Given the description of an element on the screen output the (x, y) to click on. 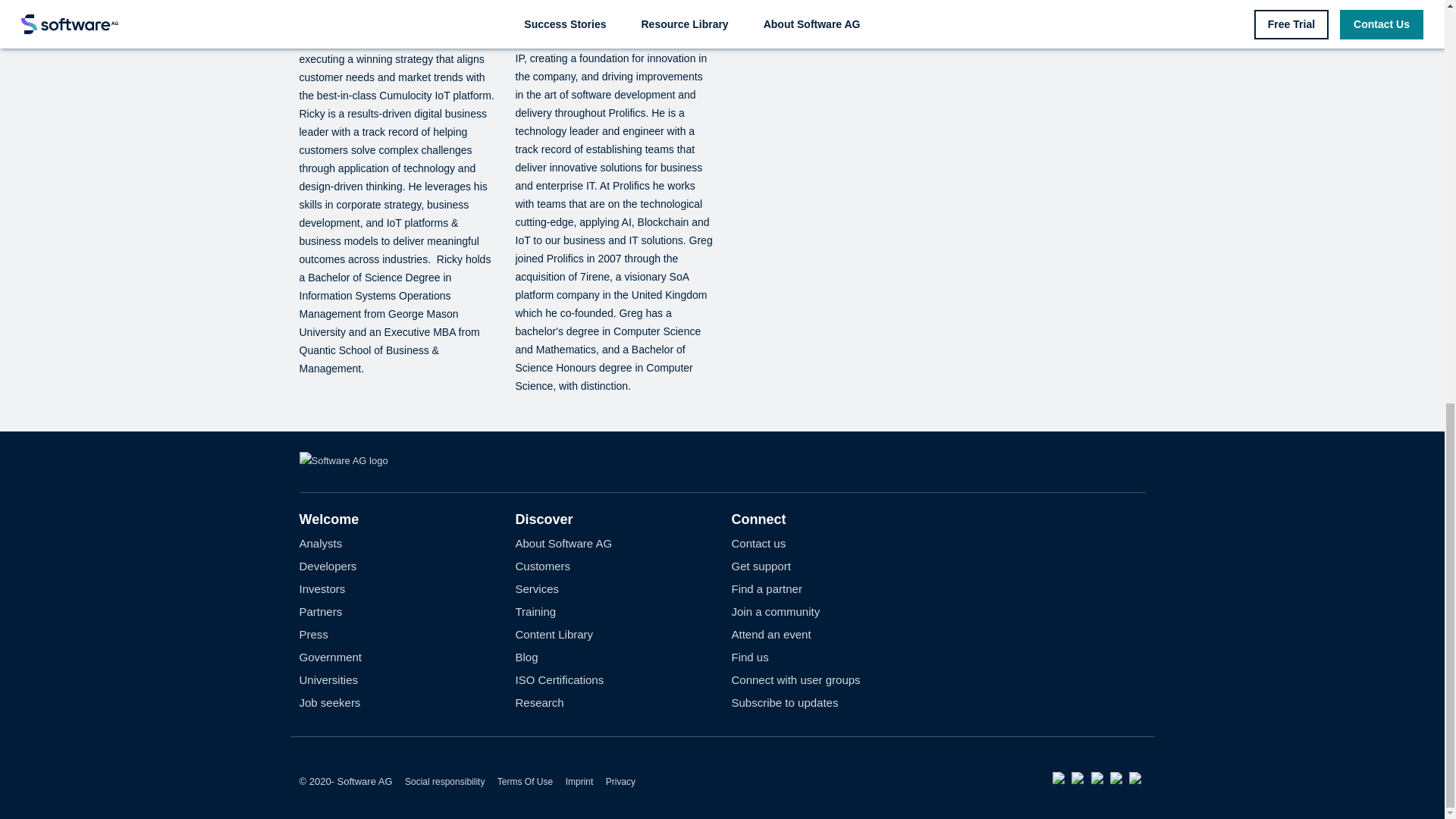
Developers (327, 565)
Analysts (320, 543)
Blog (526, 656)
Contact us (758, 543)
Government (329, 656)
Terms Of Use (525, 781)
Join a community (774, 611)
Attend an event (770, 634)
Content Library (554, 634)
Connect with user groups (795, 679)
Find a partner (766, 588)
Universities (328, 679)
Training (535, 611)
Software AG logo (342, 460)
Partners (320, 611)
